Given the description of an element on the screen output the (x, y) to click on. 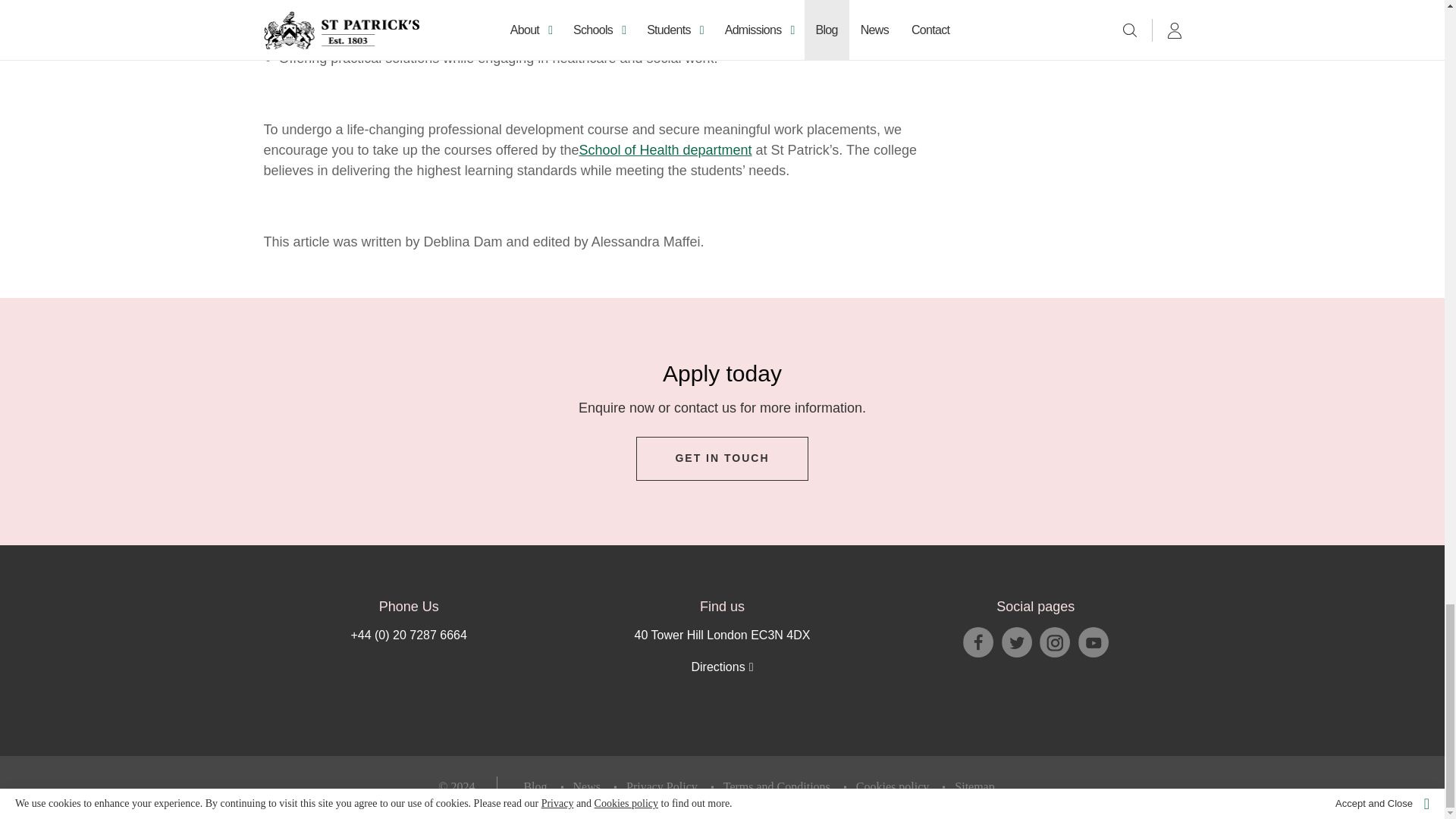
Cookies policy (892, 786)
instagram (1054, 642)
School of Health department (664, 149)
News (586, 786)
youtube (1093, 642)
Terms and Conditions (776, 786)
Blog (534, 786)
facebook (977, 642)
GET IN TOUCH (722, 458)
Privacy Policy (661, 786)
